Given the description of an element on the screen output the (x, y) to click on. 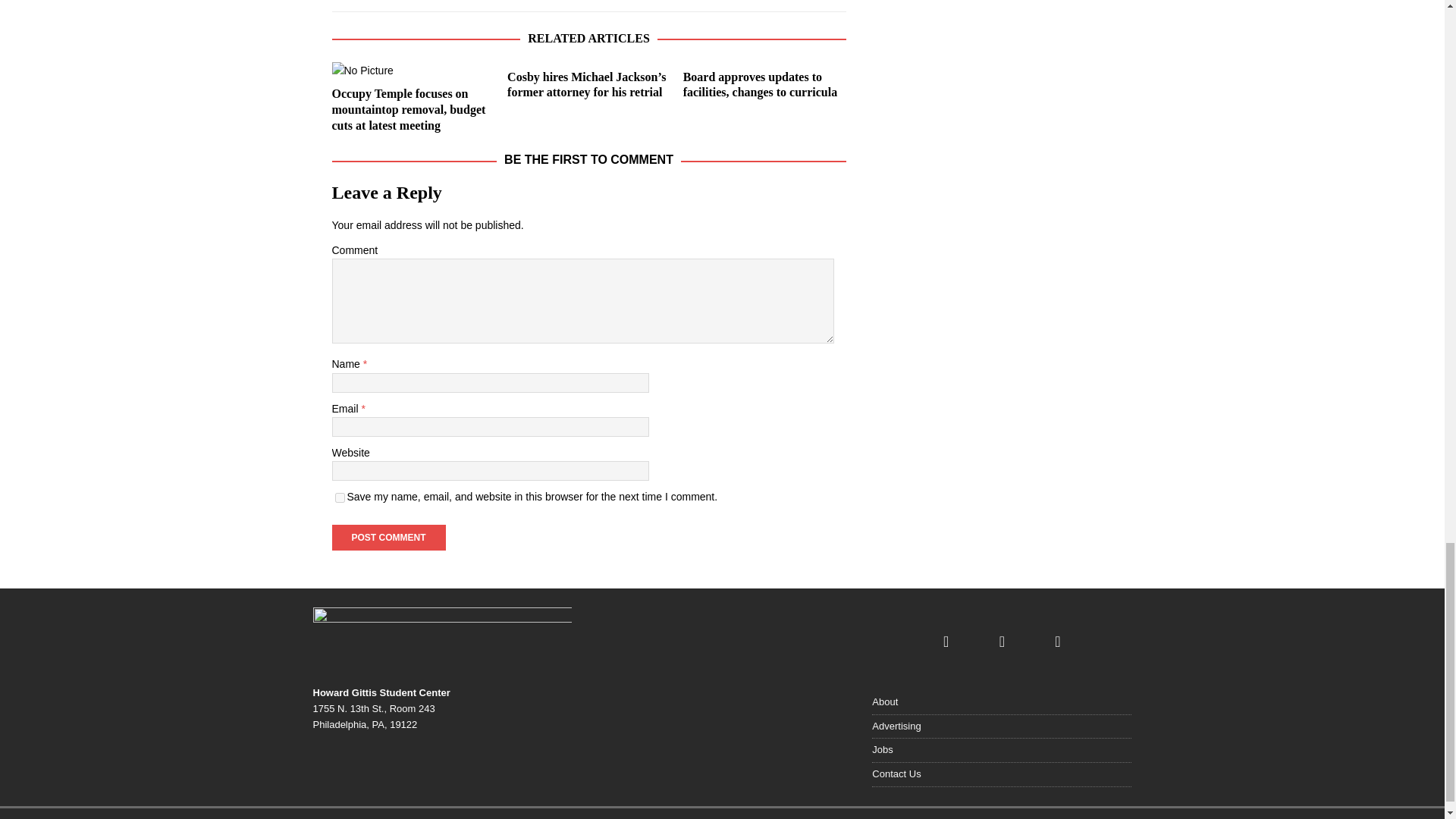
Post Comment (388, 537)
yes (339, 497)
